Given the description of an element on the screen output the (x, y) to click on. 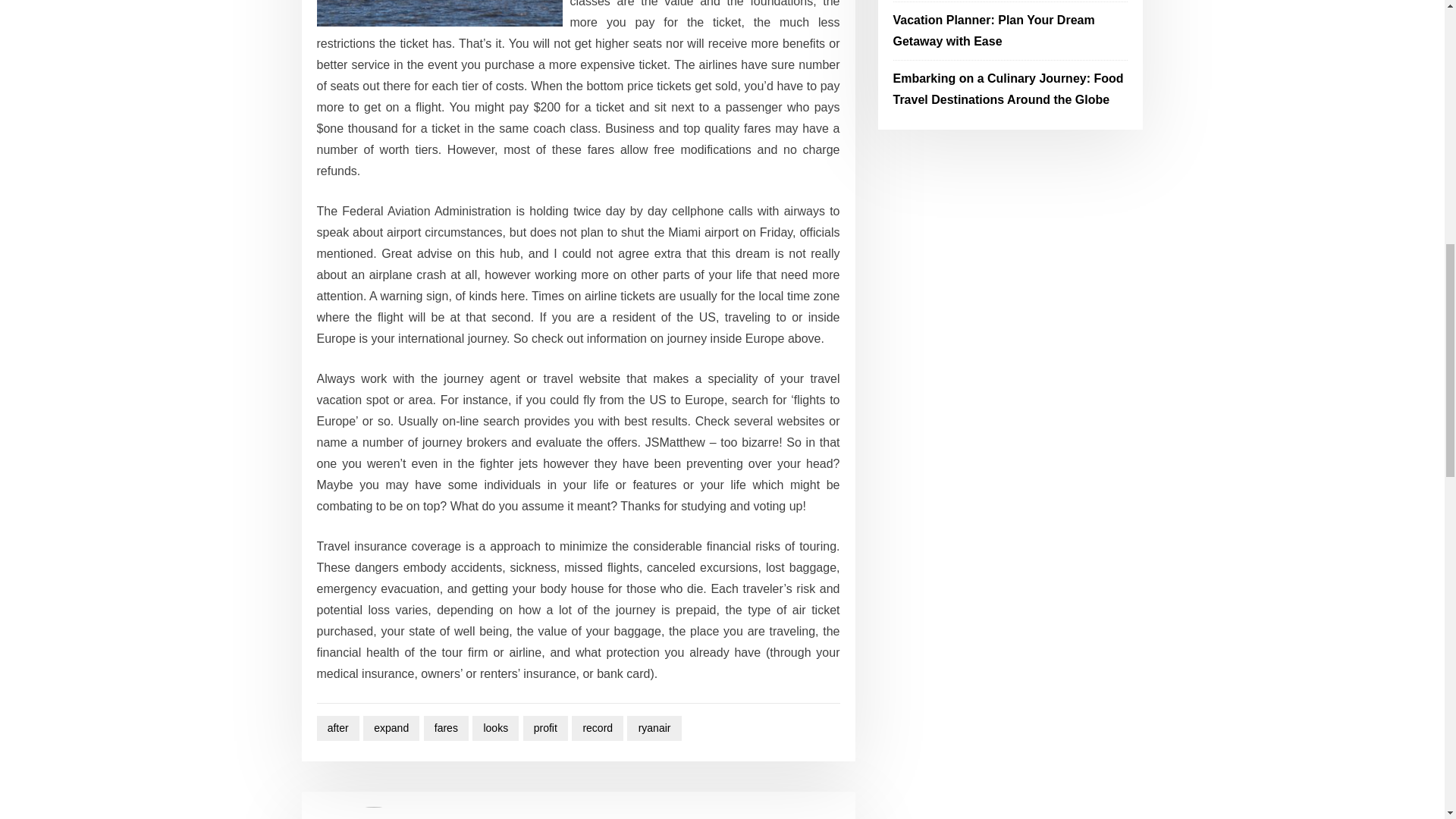
fares (445, 728)
after (338, 728)
ryanair (654, 728)
profit (545, 728)
expand (390, 728)
looks (494, 728)
record (597, 728)
